Given the description of an element on the screen output the (x, y) to click on. 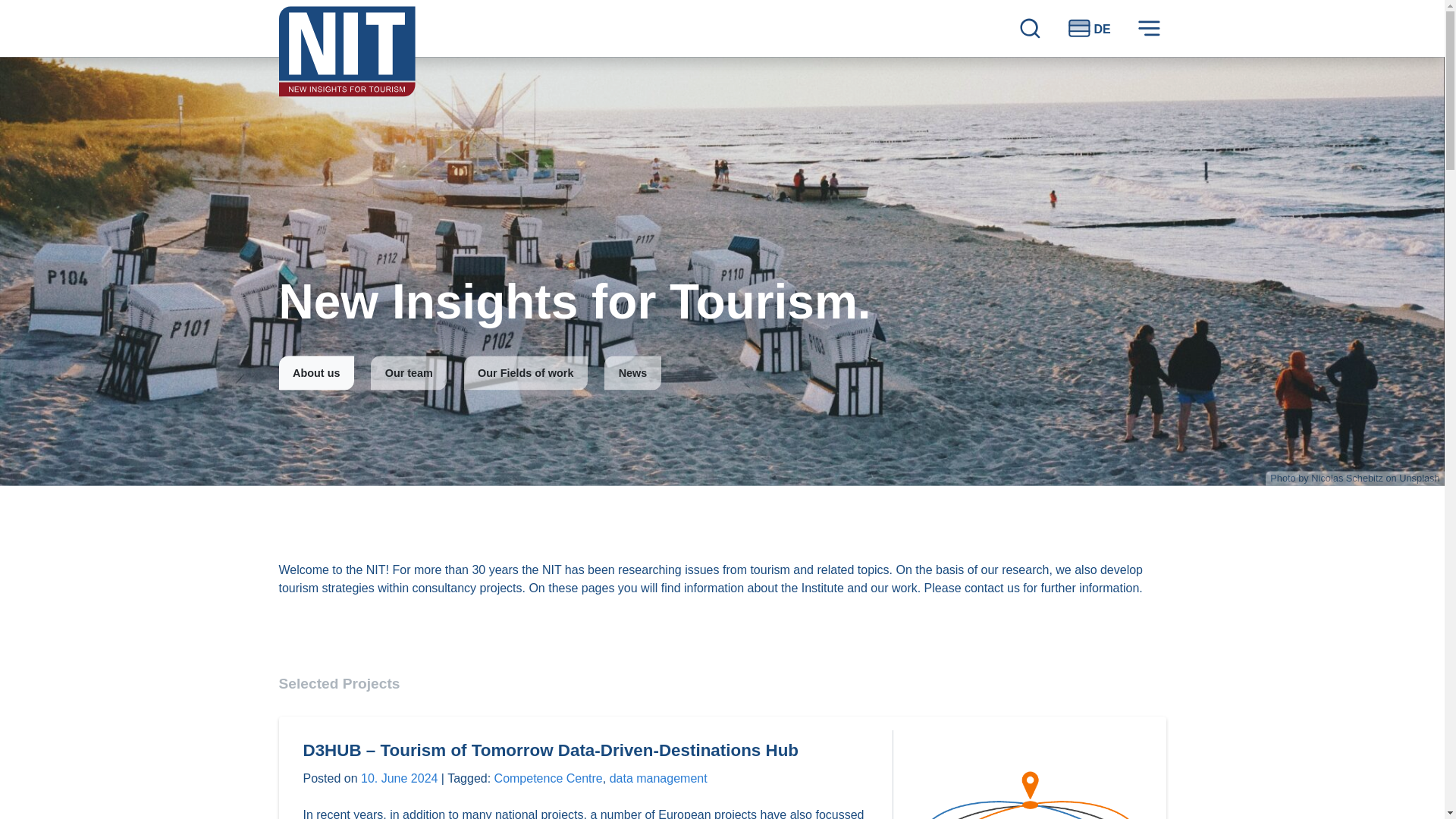
Our team (408, 373)
Our Fields of work (526, 373)
Our Fields of work (526, 373)
DE (1089, 28)
Our team (408, 373)
Primary Menu (1149, 28)
News (632, 373)
About us (317, 373)
About us (317, 373)
News (632, 373)
Site Search (1029, 28)
Switch to Deutsch (1089, 28)
